Given the description of an element on the screen output the (x, y) to click on. 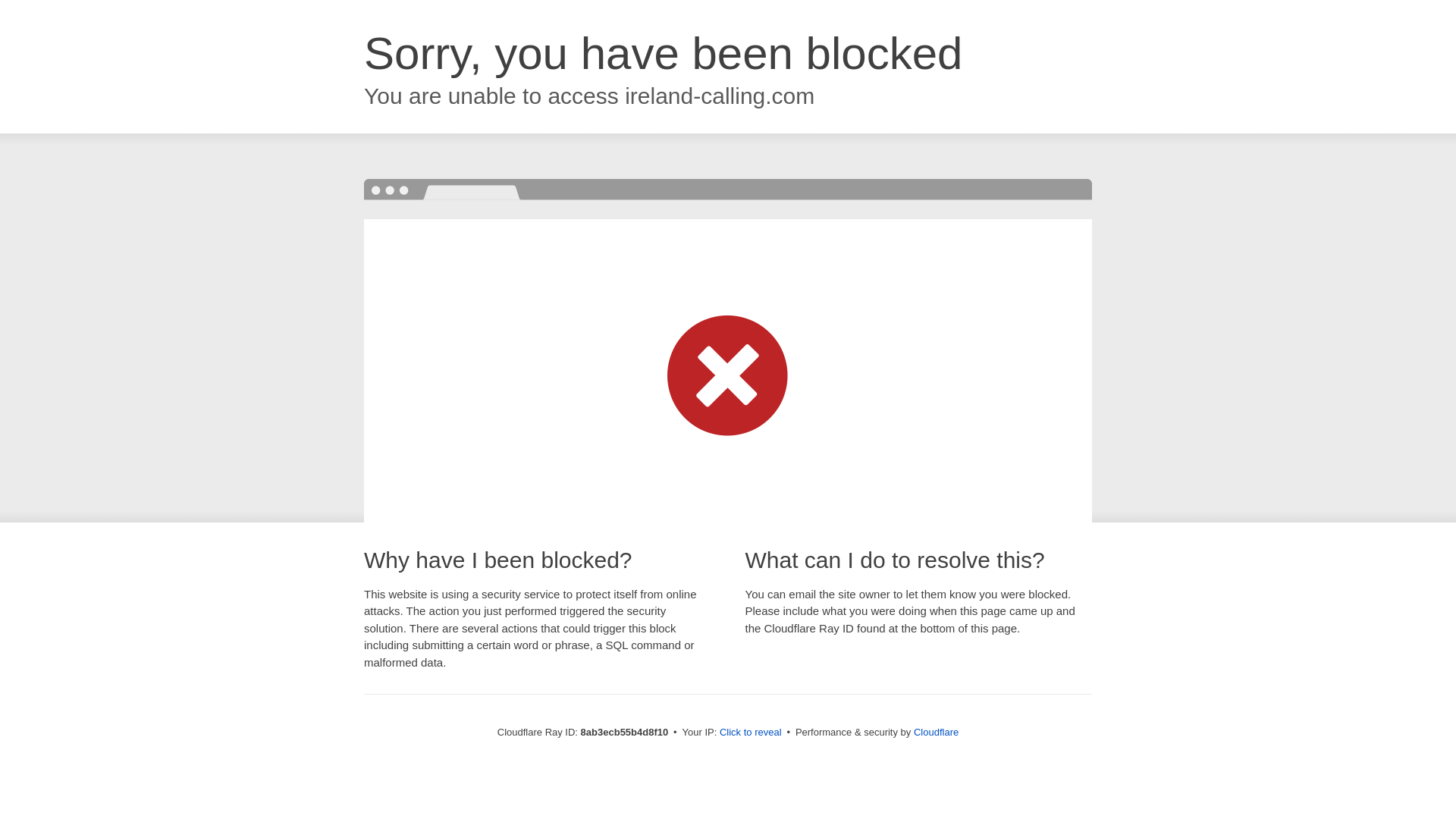
Cloudflare (936, 731)
Click to reveal (750, 732)
